Given the description of an element on the screen output the (x, y) to click on. 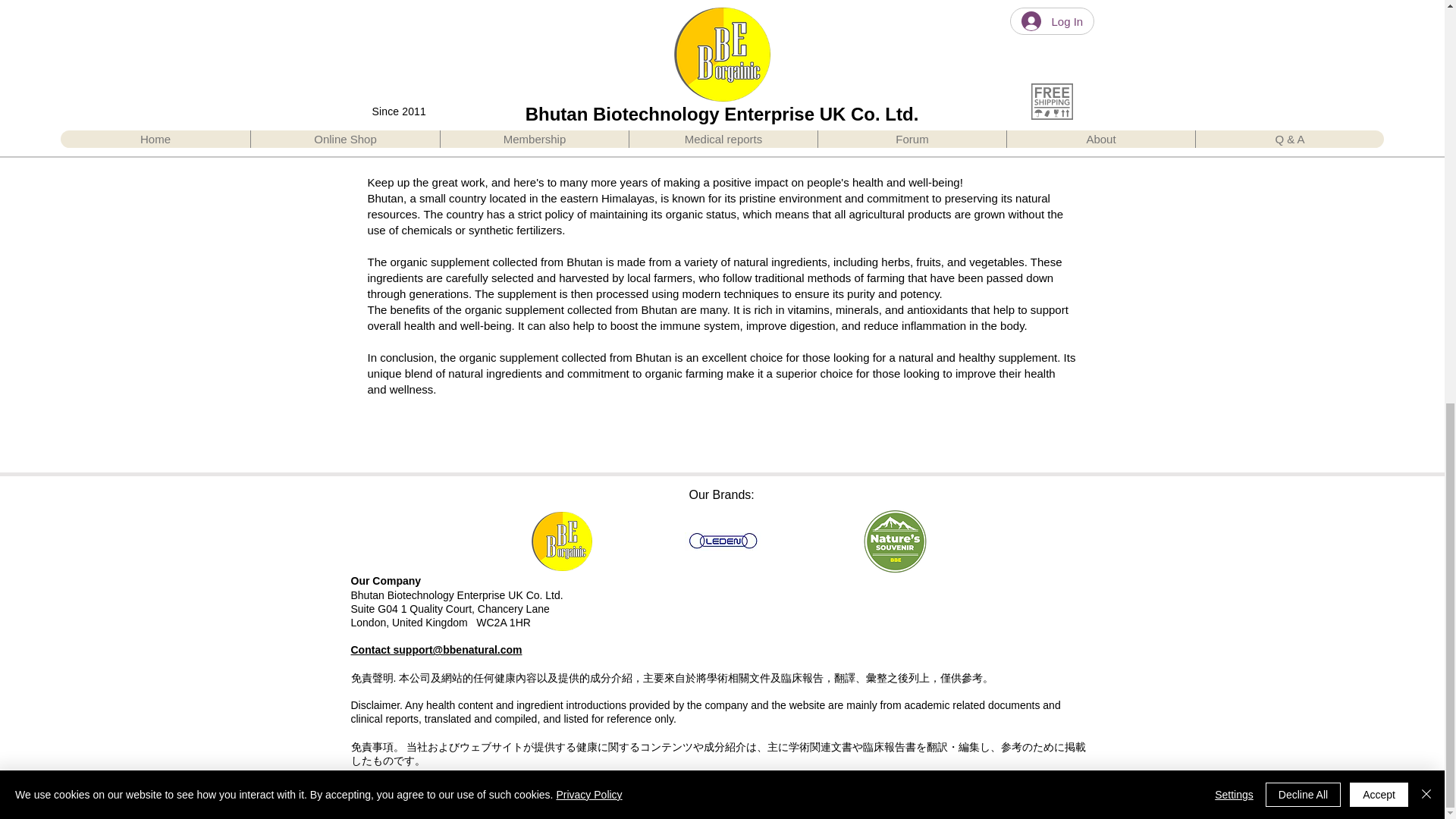
Accept (1378, 6)
Privacy Policy (588, 3)
Privacy Policy (383, 779)
Decline All (1302, 6)
Curious Fish (722, 804)
